Given the description of an element on the screen output the (x, y) to click on. 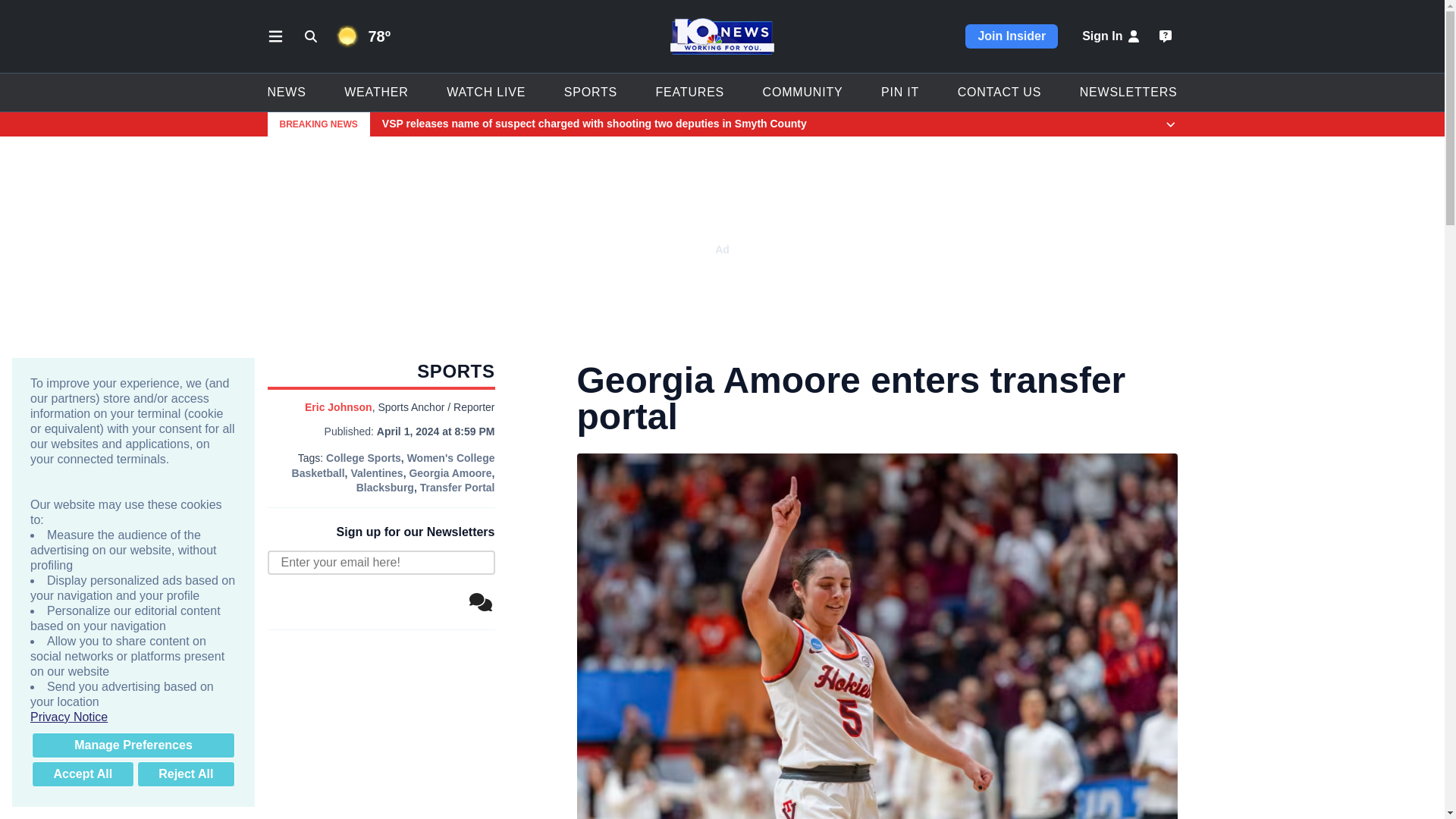
Privacy Notice (132, 717)
Manage Preferences (133, 745)
Accept All (82, 774)
Reject All (185, 774)
Sign In (1111, 36)
Join Insider (1011, 36)
